Given the description of an element on the screen output the (x, y) to click on. 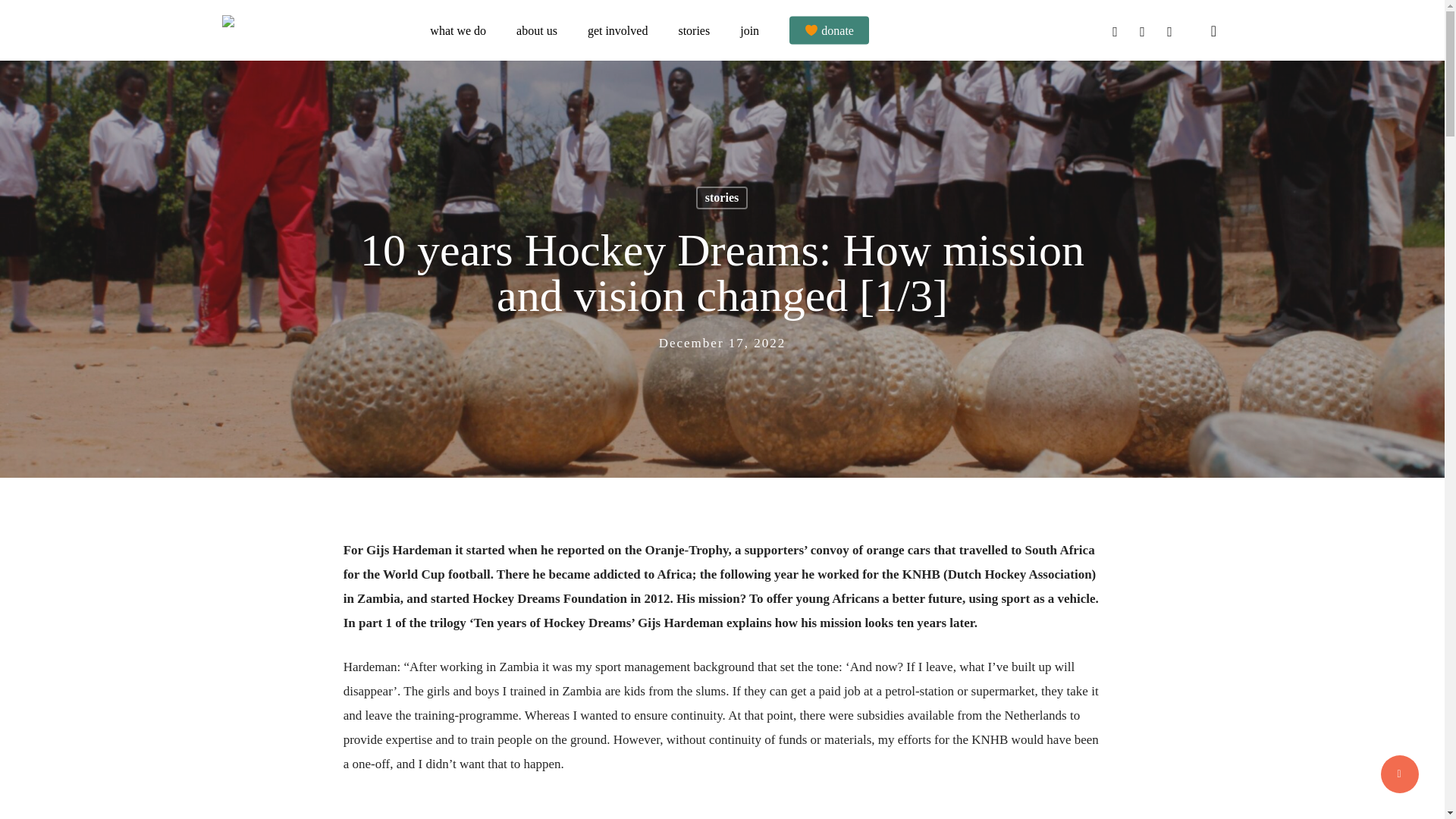
join (748, 30)
donate (829, 30)
stories (721, 197)
what we do (457, 30)
stories (694, 30)
get involved (617, 30)
about us (536, 30)
